Given the description of an element on the screen output the (x, y) to click on. 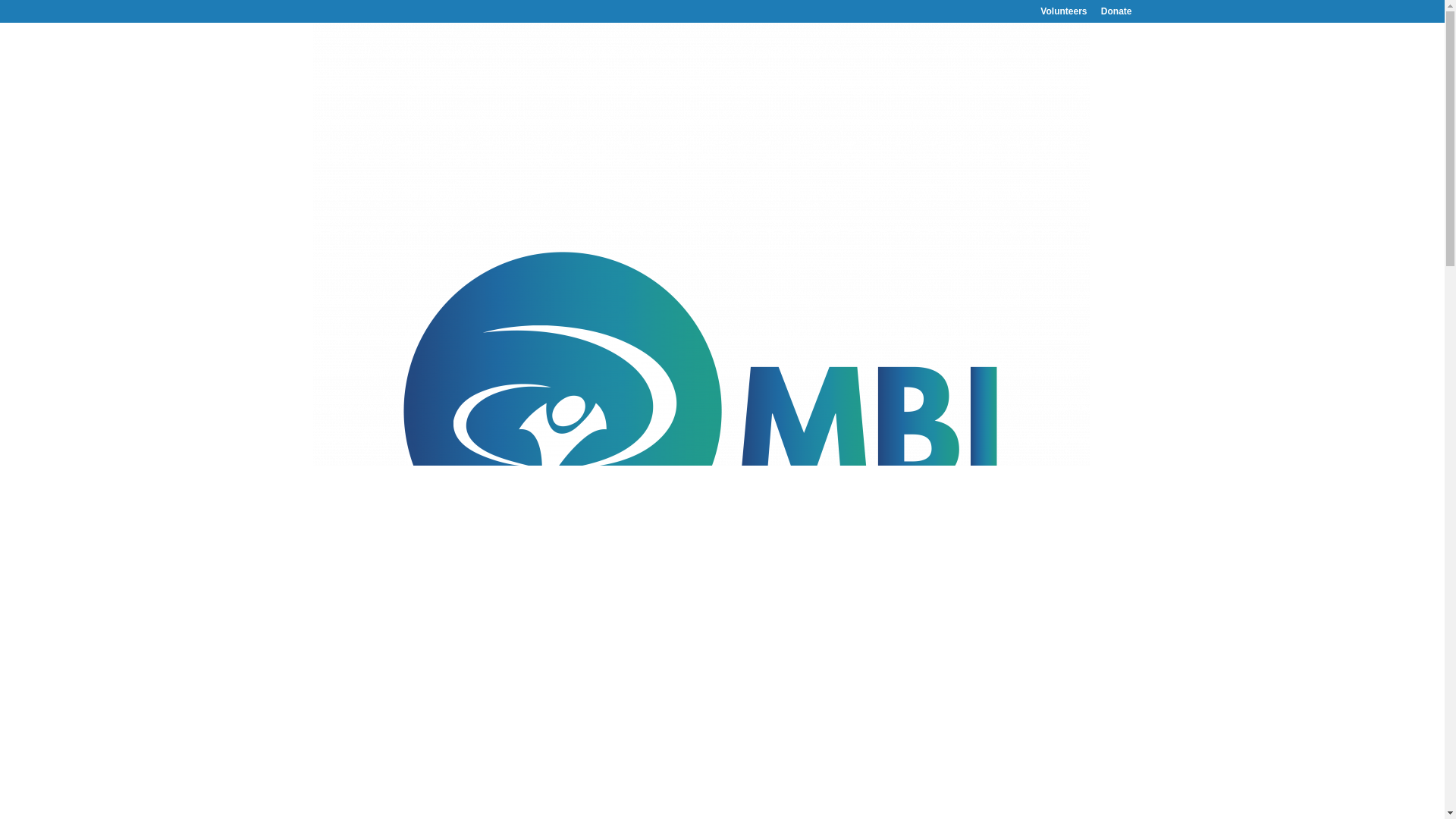
A License to Serve: Designing Thriving Missions Communities (1057, 320)
Volunteer Viewpoint (510, 589)
June 2024 (1008, 707)
Volunteers (1063, 14)
The Need to Be Heard (1036, 287)
Search (1106, 142)
A Time to Build (1091, 580)
The Need to Be Heard (1050, 465)
Mission 91 Is Mission Ready (1051, 548)
